Given the description of an element on the screen output the (x, y) to click on. 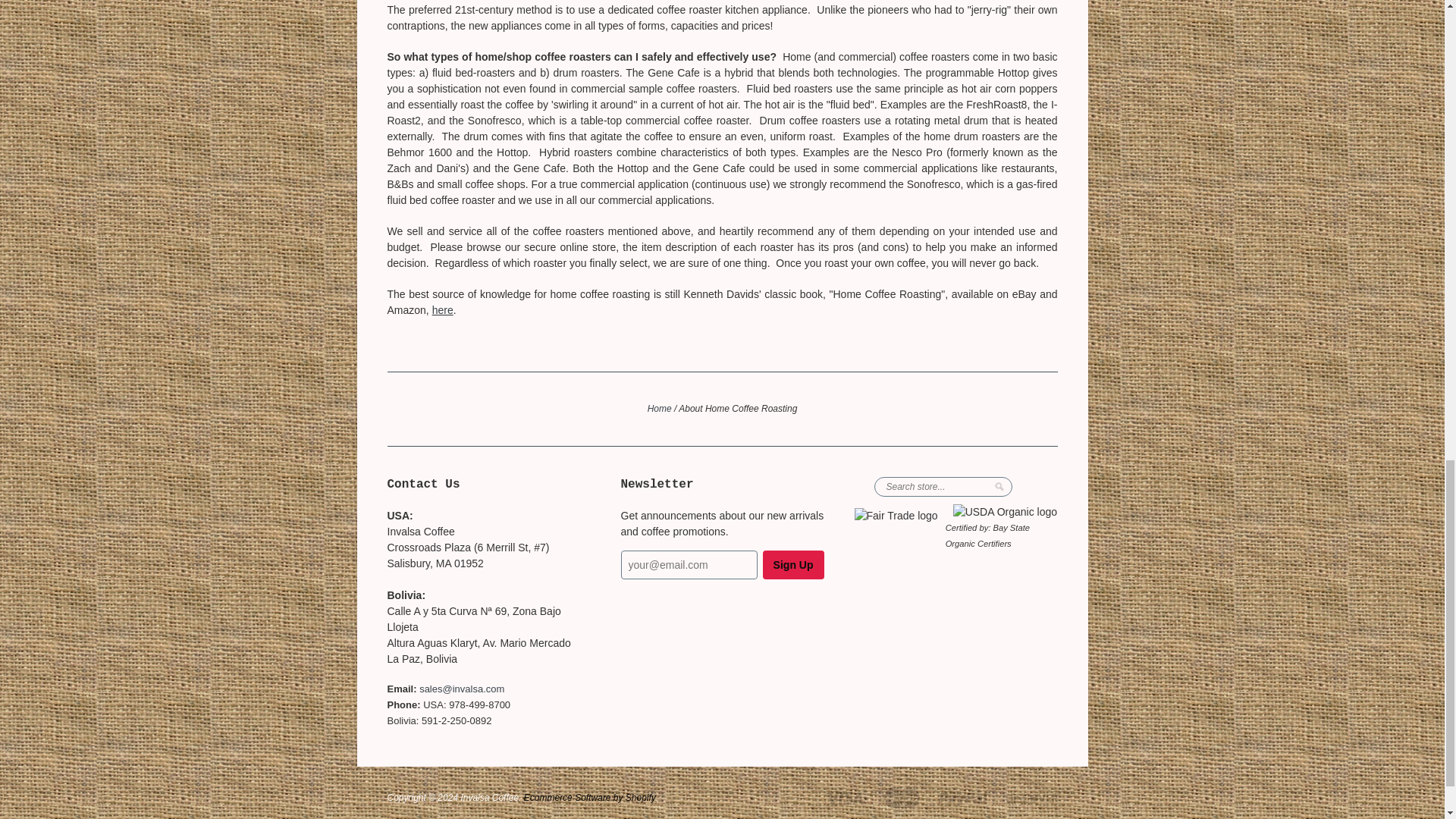
here (442, 309)
Home (659, 408)
Sign Up (793, 564)
Sign Up (793, 564)
Ecommerce Software by Shopify (589, 797)
